Given the description of an element on the screen output the (x, y) to click on. 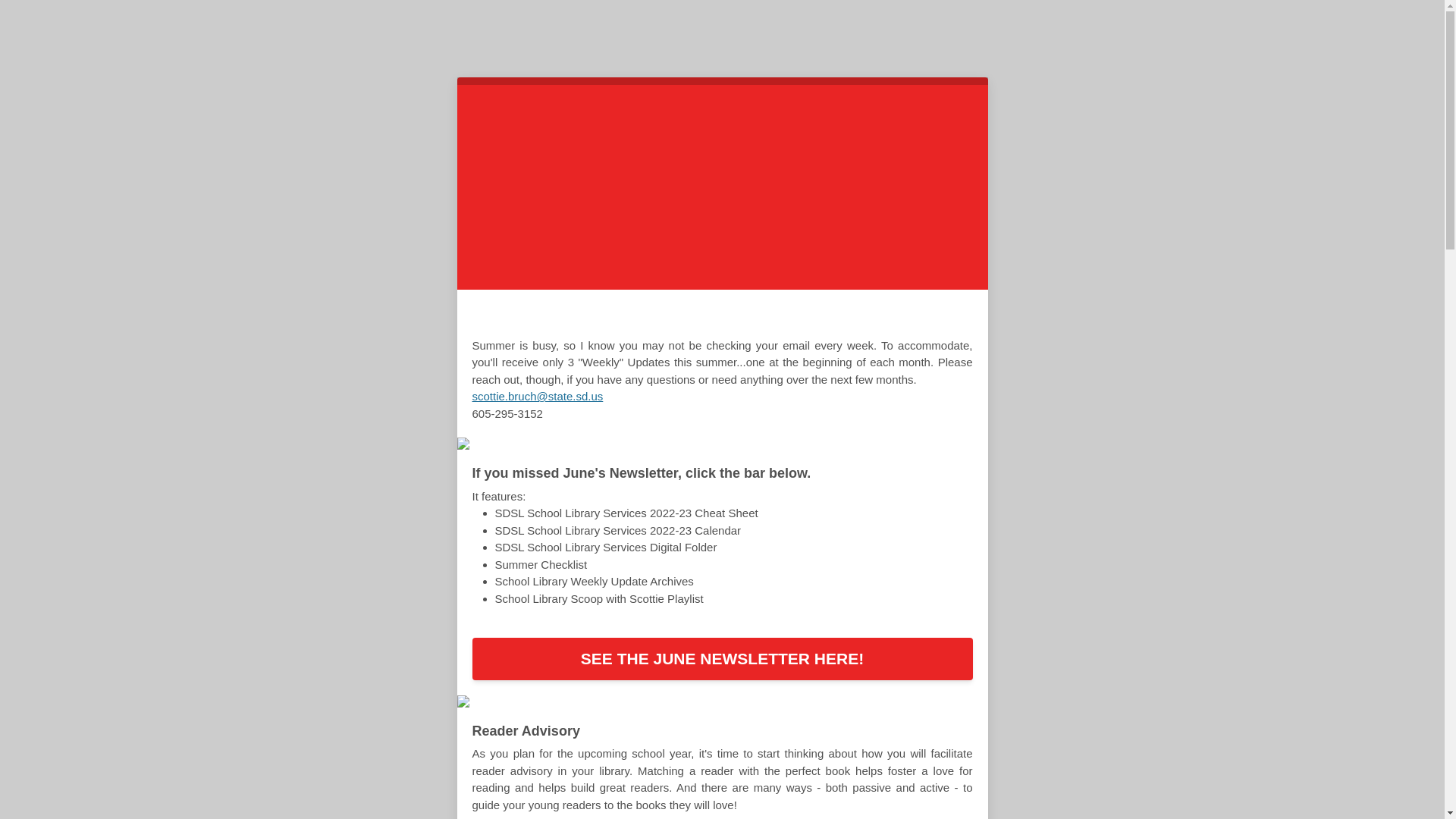
2022 (745, 316)
SEE THE JUNE NEWSLETTER HERE! (721, 659)
JULY (699, 316)
